Given the description of an element on the screen output the (x, y) to click on. 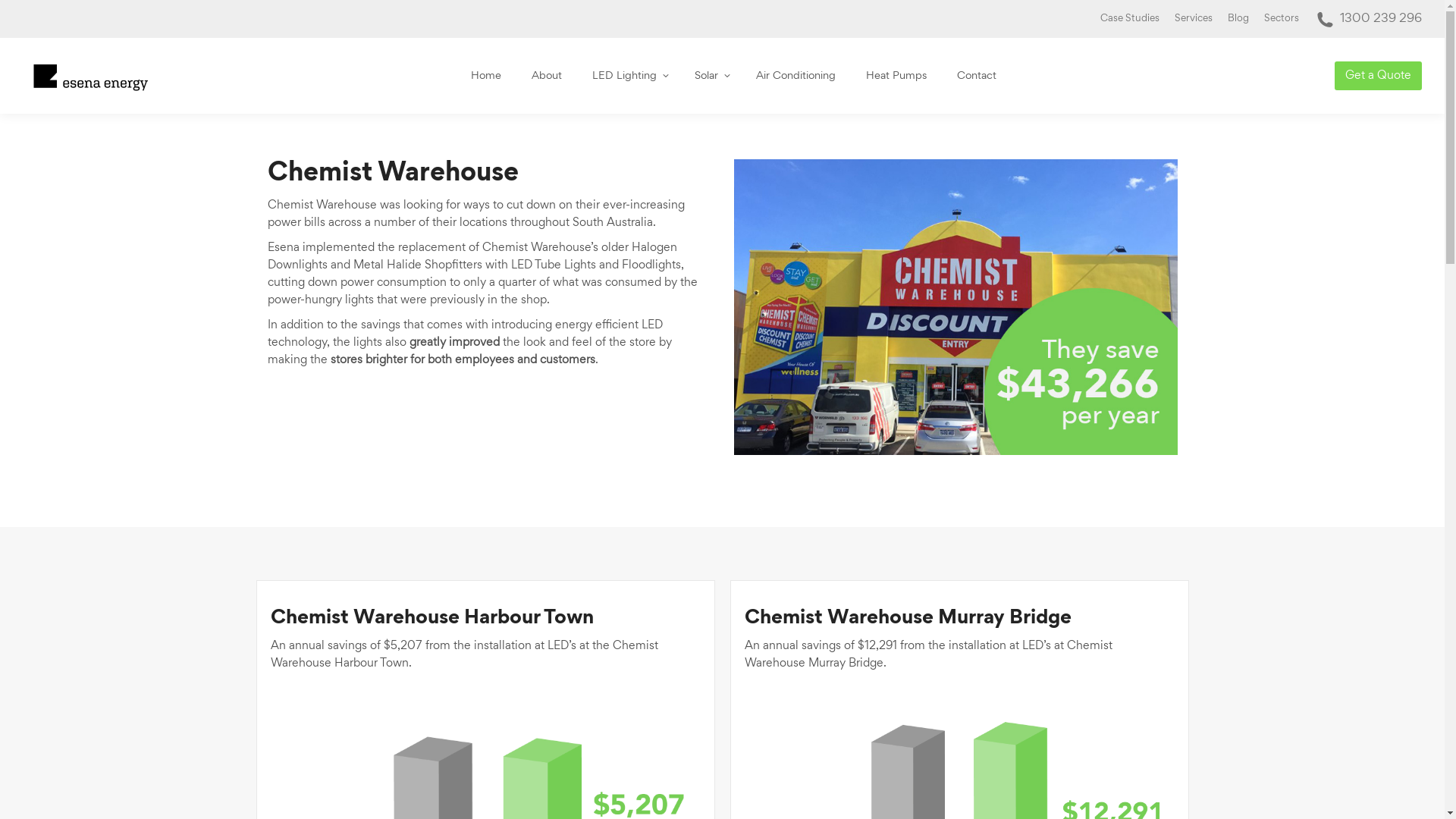
Case Studies Element type: text (1129, 18)
Chemist Warehouse save $43,266 oer year Element type: hover (955, 307)
Sectors Element type: text (1281, 18)
Air Conditioning Element type: text (794, 75)
Solar Element type: text (710, 75)
Get a Quote Element type: text (1377, 75)
Home Element type: text (485, 75)
LED Lighting Element type: text (627, 75)
Heat Pumps Element type: text (896, 75)
Services Element type: text (1193, 18)
Blog Element type: text (1237, 18)
About Element type: text (545, 75)
Contact Element type: text (976, 75)
